Given the description of an element on the screen output the (x, y) to click on. 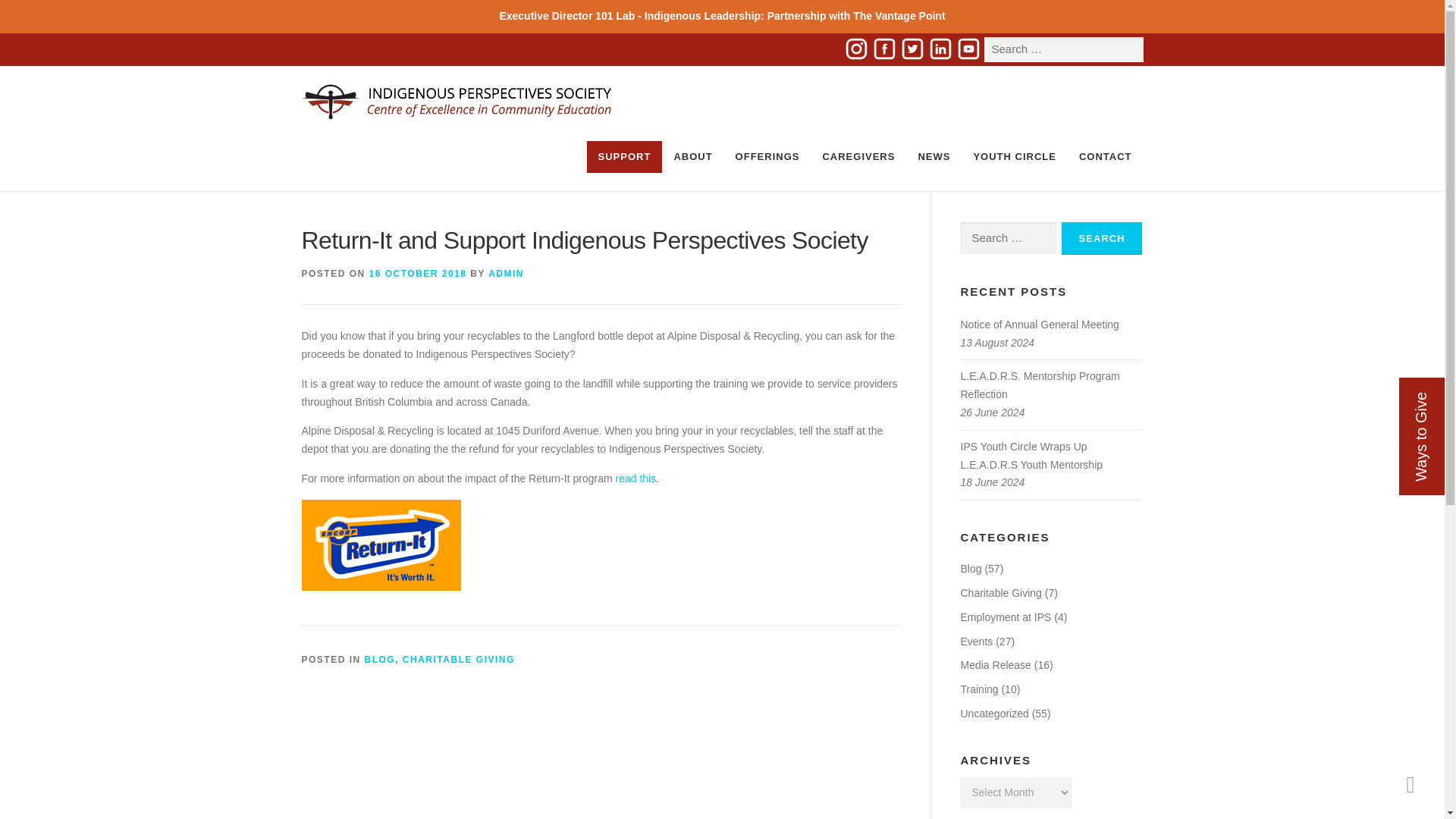
OFFERINGS (766, 156)
SUPPORT (624, 156)
CAREGIVERS (857, 156)
Search (40, 12)
ABOUT (692, 156)
NEWS (932, 156)
Search (1101, 237)
Back To Top (1410, 784)
Search (1101, 237)
